Given the description of an element on the screen output the (x, y) to click on. 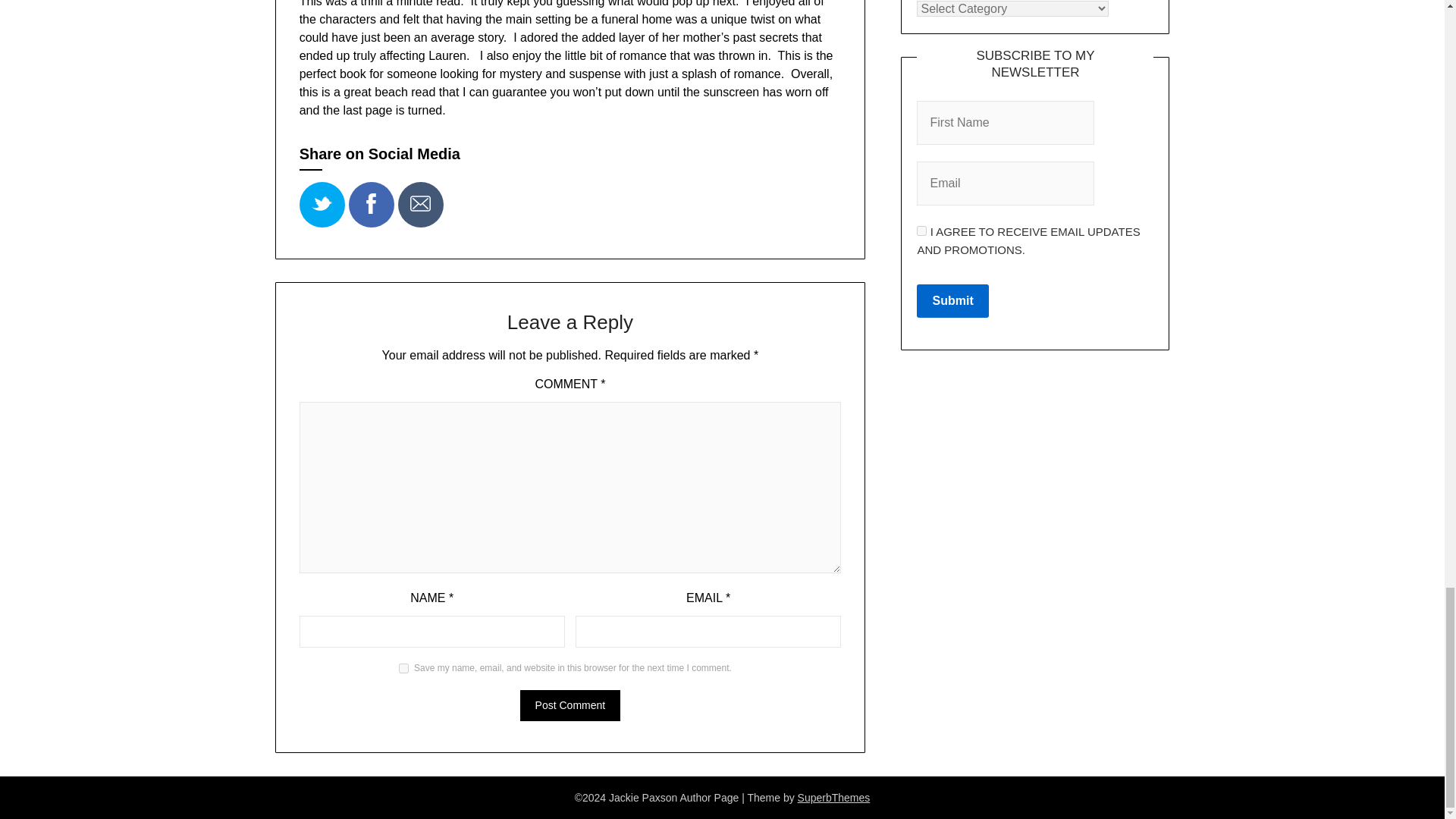
Post Comment (570, 705)
1 (921, 230)
yes (403, 668)
